Given the description of an element on the screen output the (x, y) to click on. 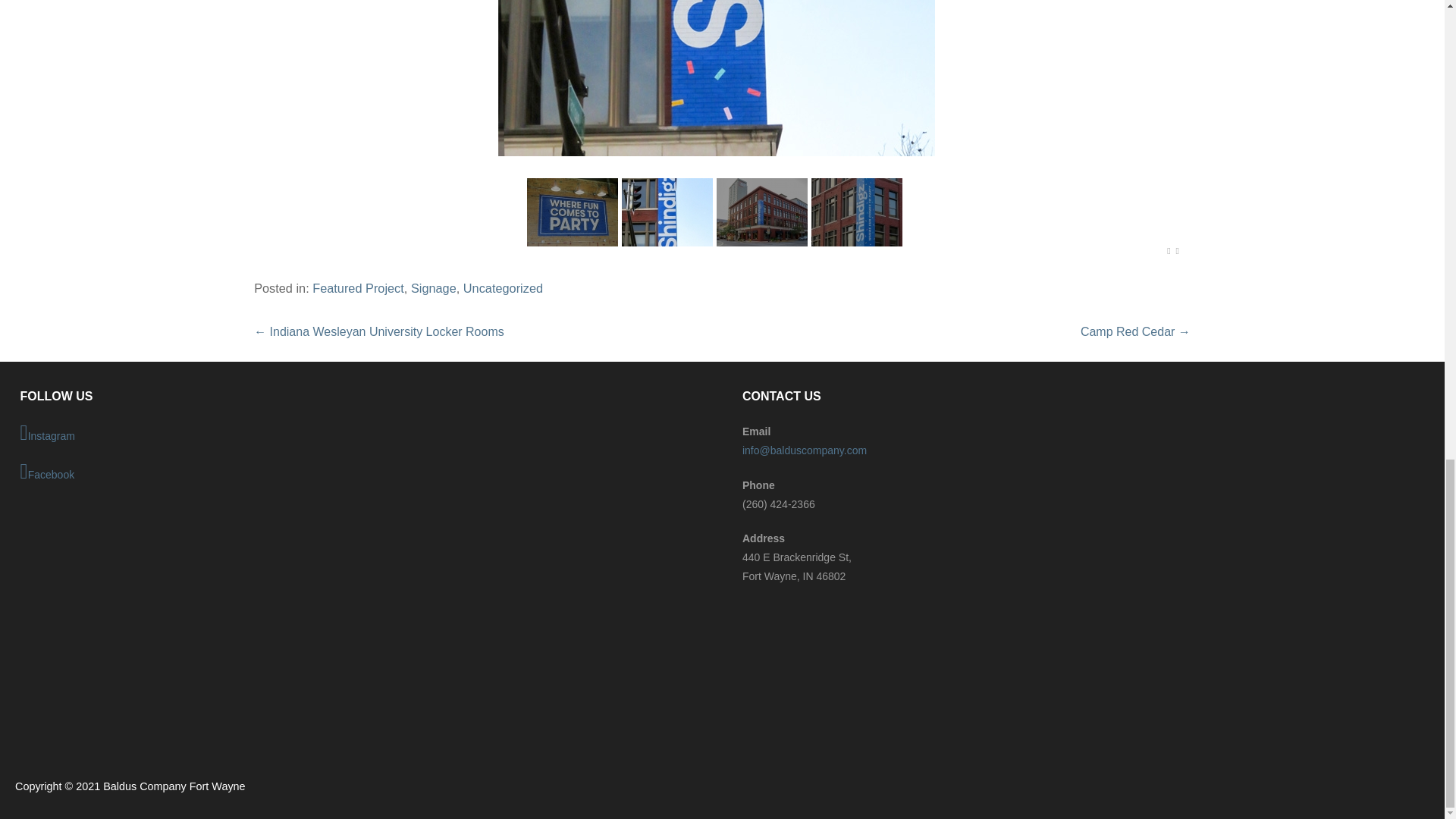
Instagram (360, 433)
Featured Project (358, 287)
Uncategorized (503, 287)
Facebook (360, 472)
Signage (433, 287)
Visit Baldus Company Fort Wayne on Instagram (360, 433)
Visit Baldus Company Fort Wayne on Facebook (360, 472)
